Given the description of an element on the screen output the (x, y) to click on. 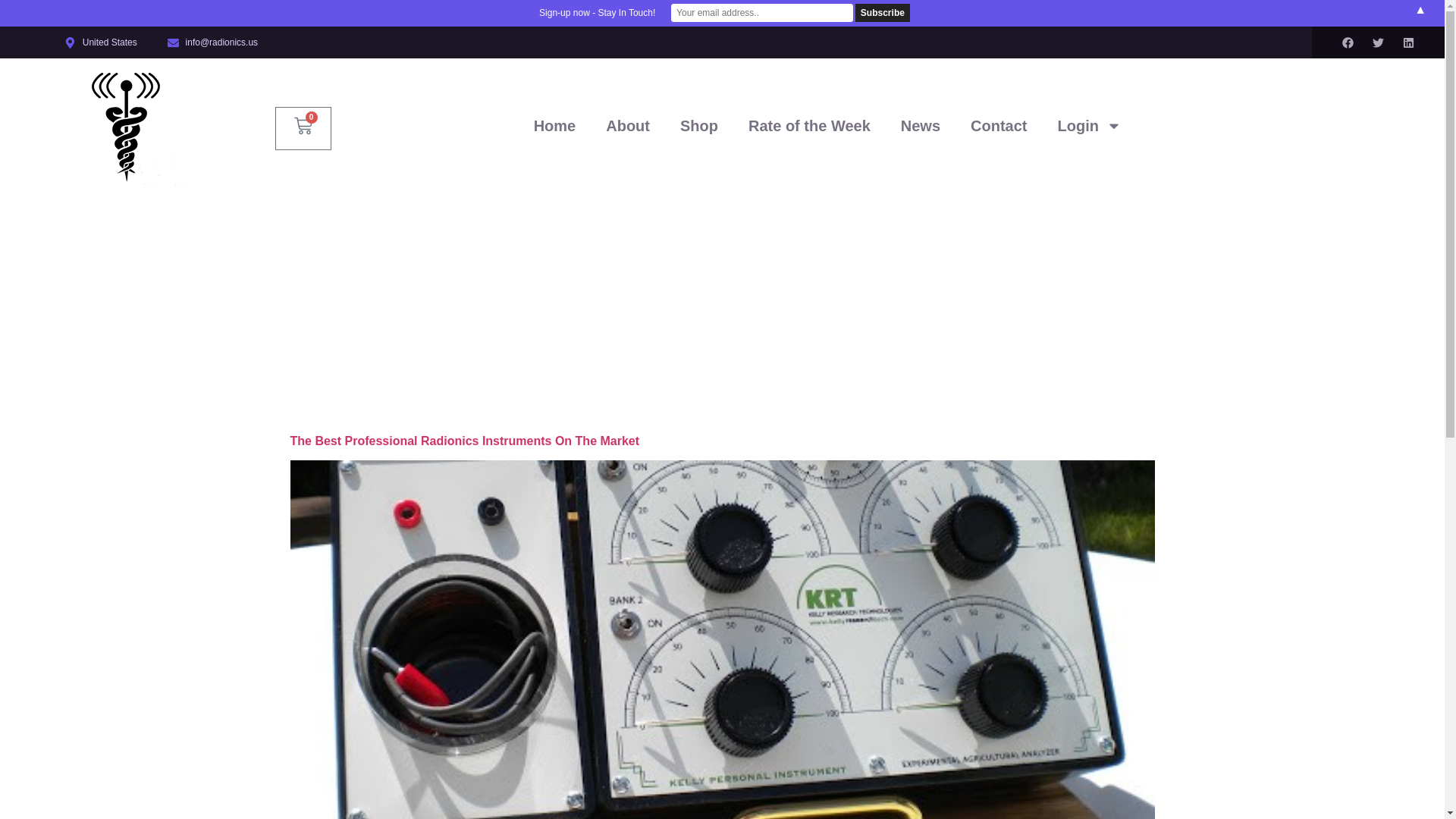
Subscribe (883, 13)
Login (1088, 125)
About (628, 125)
Contact (998, 125)
Home (554, 125)
Shop (699, 125)
News (920, 125)
0 (303, 128)
Rate of the Week (809, 125)
